Given the description of an element on the screen output the (x, y) to click on. 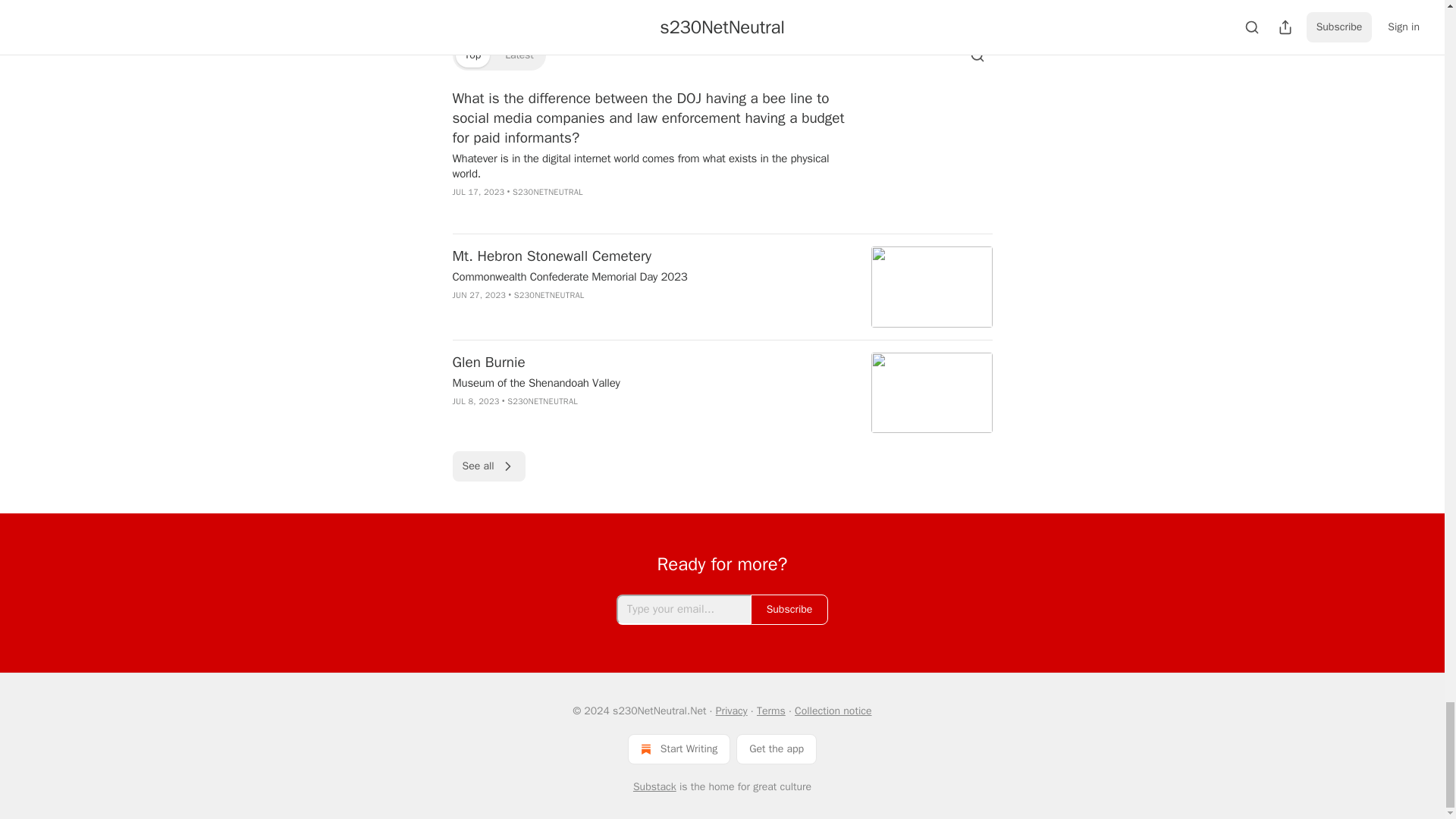
Previous (485, 4)
Top (471, 55)
Latest (518, 55)
